Given the description of an element on the screen output the (x, y) to click on. 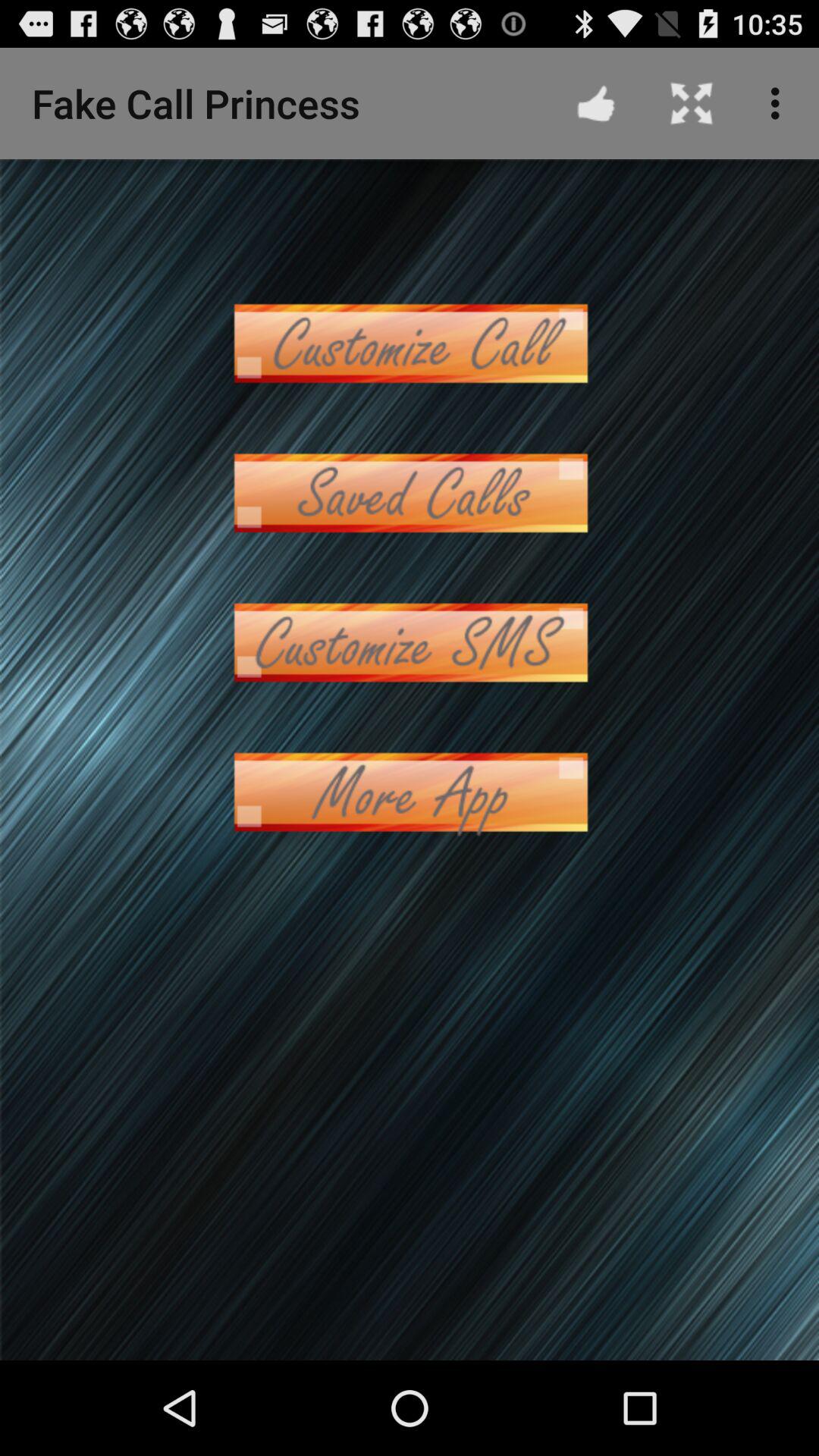
open link (409, 343)
